Given the description of an element on the screen output the (x, y) to click on. 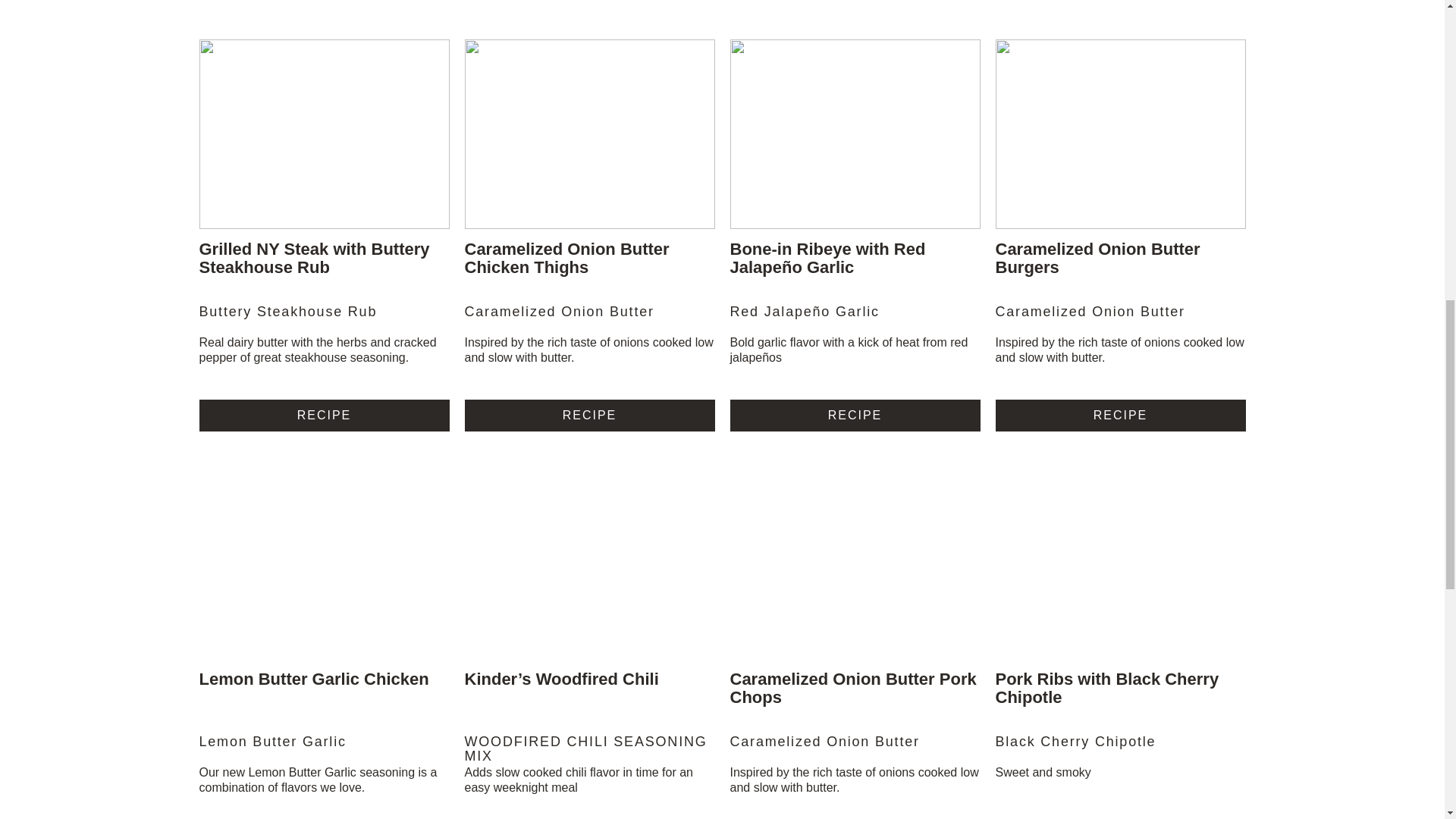
Caramelized Onion Butter (1119, 319)
Caramelized Onion Butter Chicken Thighs (566, 257)
Buttery Steakhouse Rub (323, 319)
RECIPE (854, 414)
RECIPE (323, 414)
Grilled NY Steak with Buttery Steakhouse Rub (313, 257)
RECIPE (589, 414)
Caramelized Onion Butter Burgers (1096, 257)
Caramelized Onion Butter (589, 319)
